Given the description of an element on the screen output the (x, y) to click on. 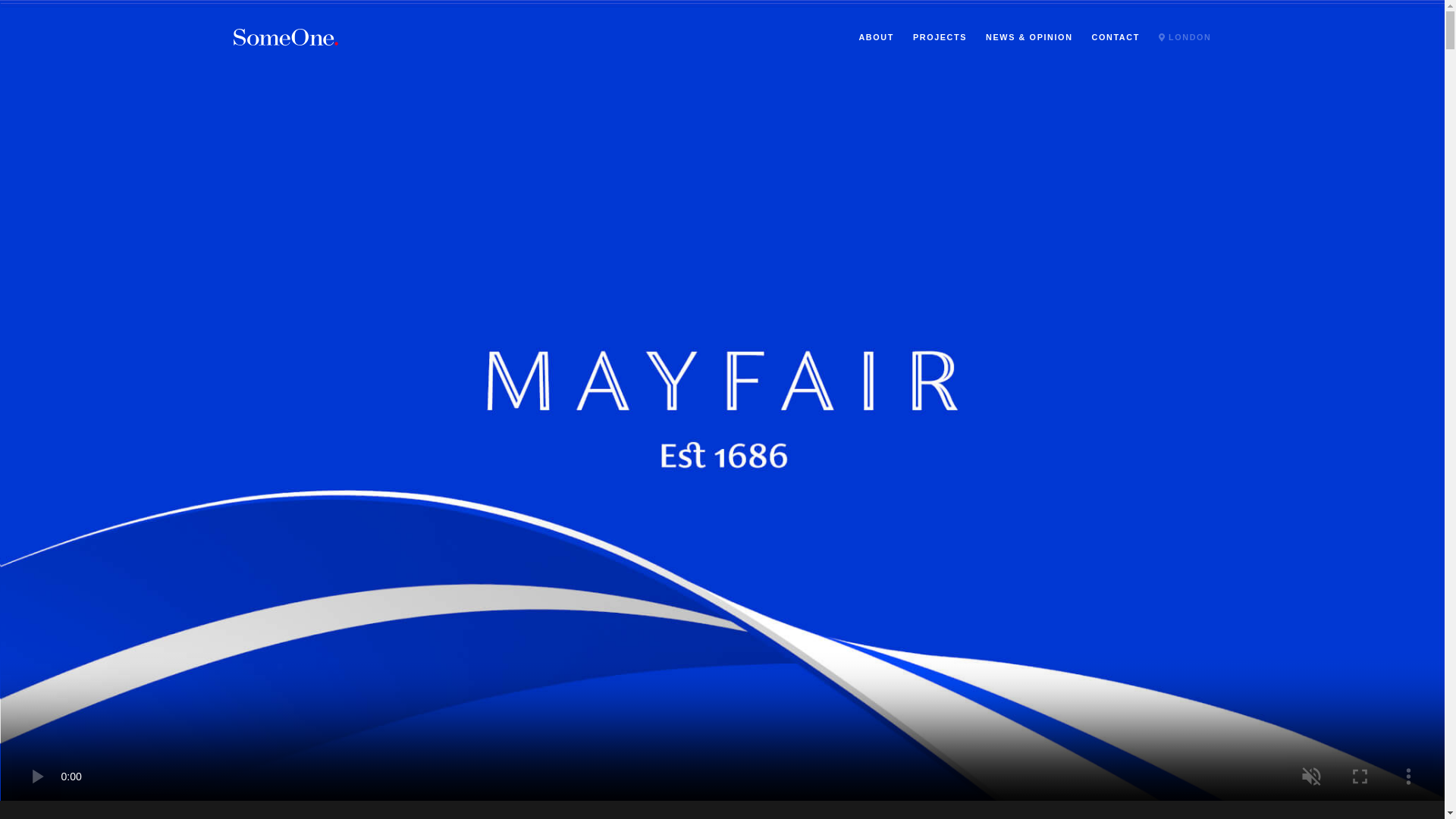
LONDON (1184, 37)
PROJECTS (939, 37)
ABOUT (876, 37)
CONTACT (1116, 37)
